Given the description of an element on the screen output the (x, y) to click on. 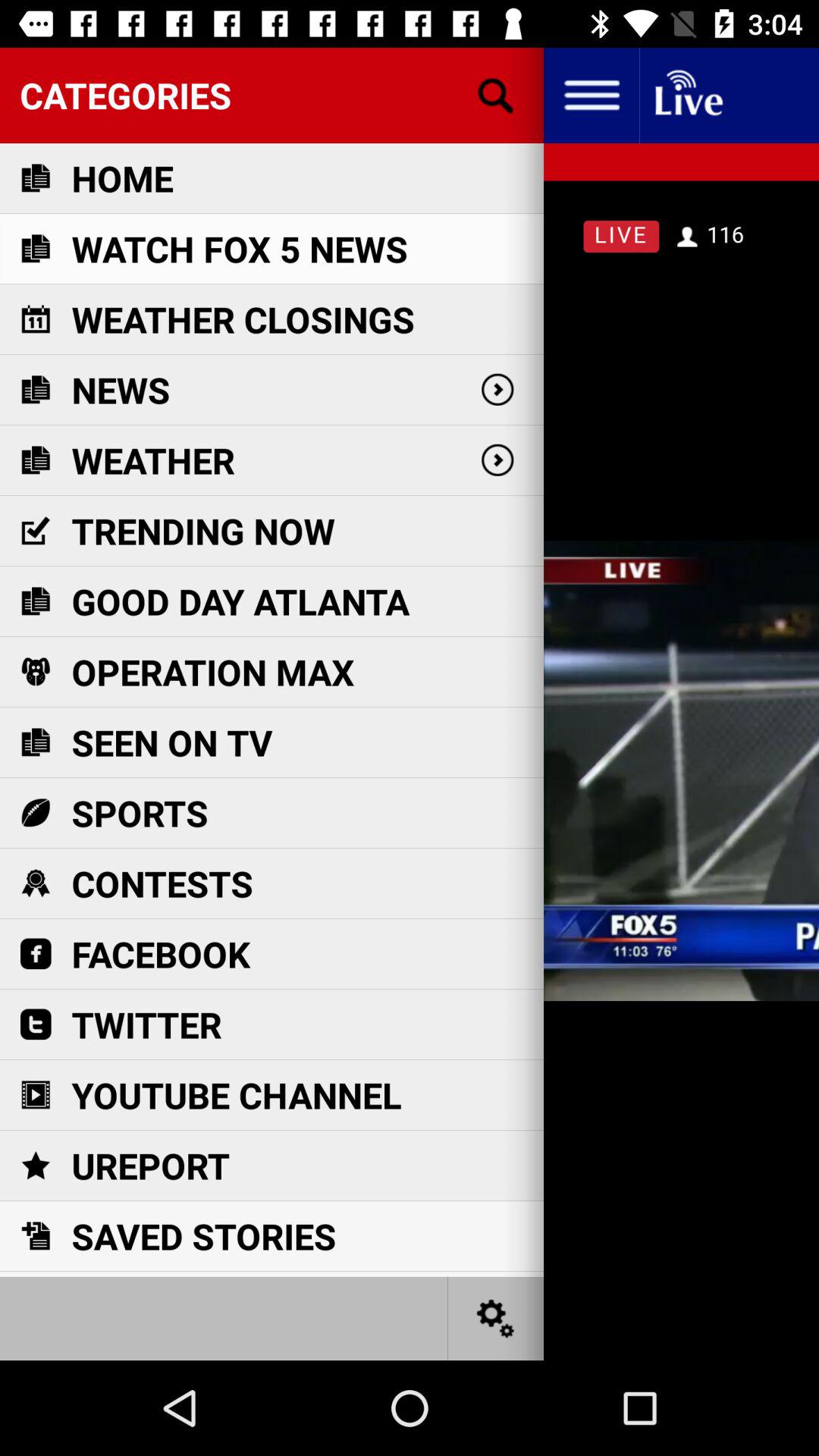
settings (495, 1318)
